Given the description of an element on the screen output the (x, y) to click on. 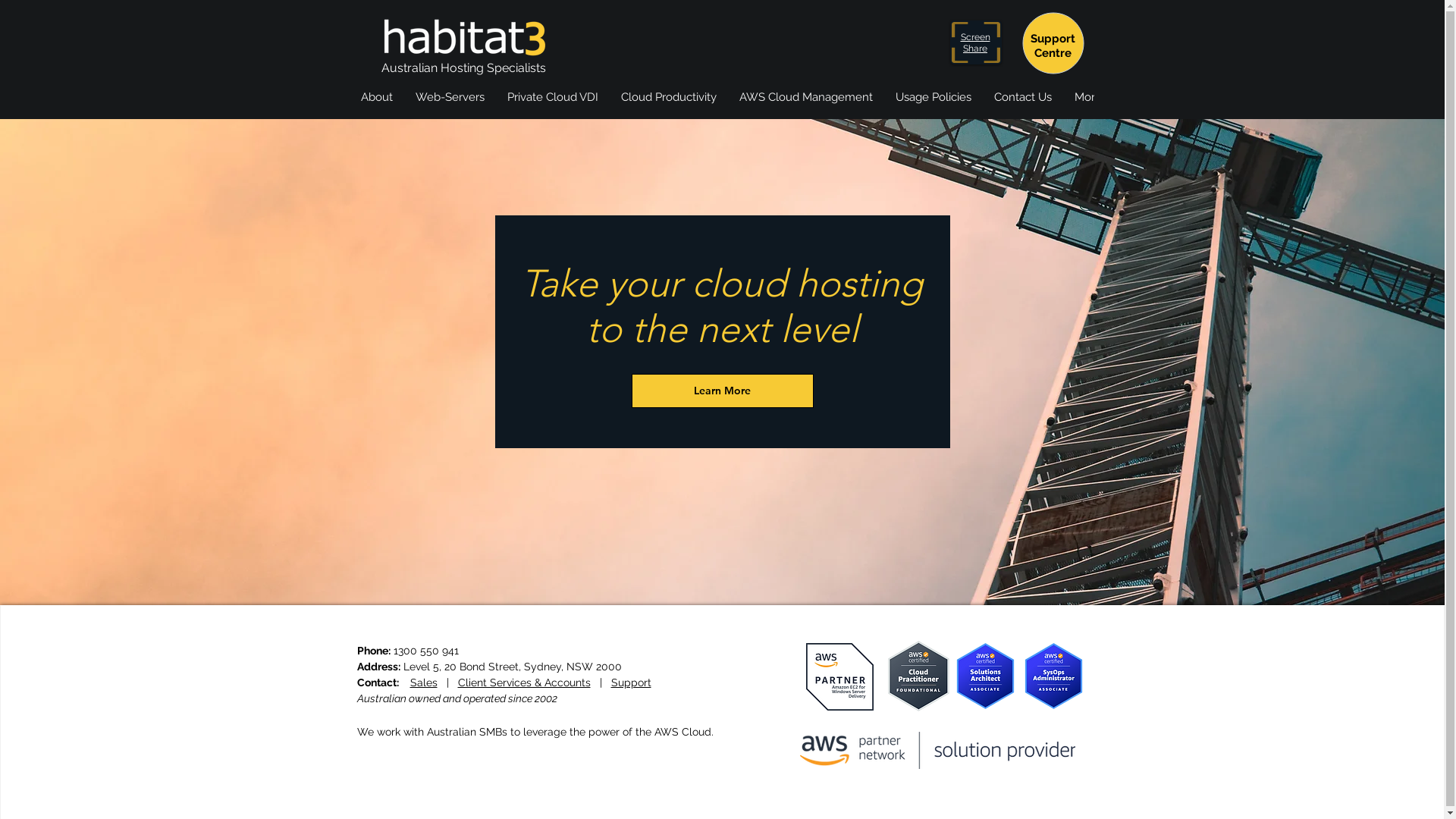
Usage Policies Element type: text (933, 104)
About Element type: text (375, 104)
Support
Centre Element type: text (1052, 45)
Private Cloud VDI Element type: text (552, 104)
Contact Us Element type: text (1022, 104)
Support Element type: text (631, 682)
Client Services & Accounts Element type: text (524, 682)
Contact:     Element type: text (382, 682)
Learn More Element type: text (721, 390)
Screen Share Element type: text (974, 42)
Australian owned and operated since 2002 Element type: text (456, 698)
AWS Cloud Management Element type: text (806, 104)
Sales Element type: text (422, 682)
Cloud Productivity Element type: text (668, 104)
Web-Servers Element type: text (449, 104)
